Given the description of an element on the screen output the (x, y) to click on. 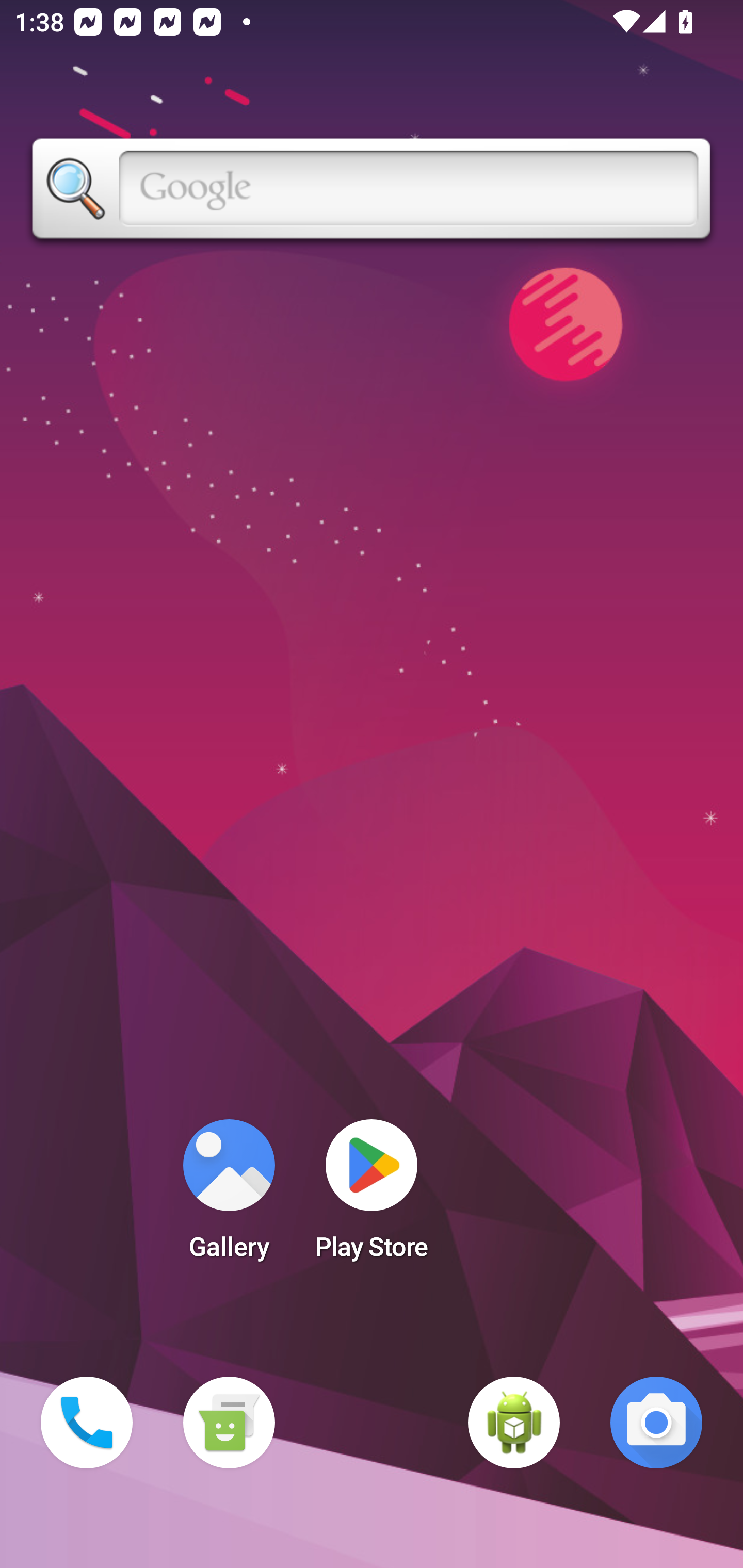
Gallery (228, 1195)
Play Store (371, 1195)
Phone (86, 1422)
Messaging (228, 1422)
WebView Browser Tester (513, 1422)
Camera (656, 1422)
